Given the description of an element on the screen output the (x, y) to click on. 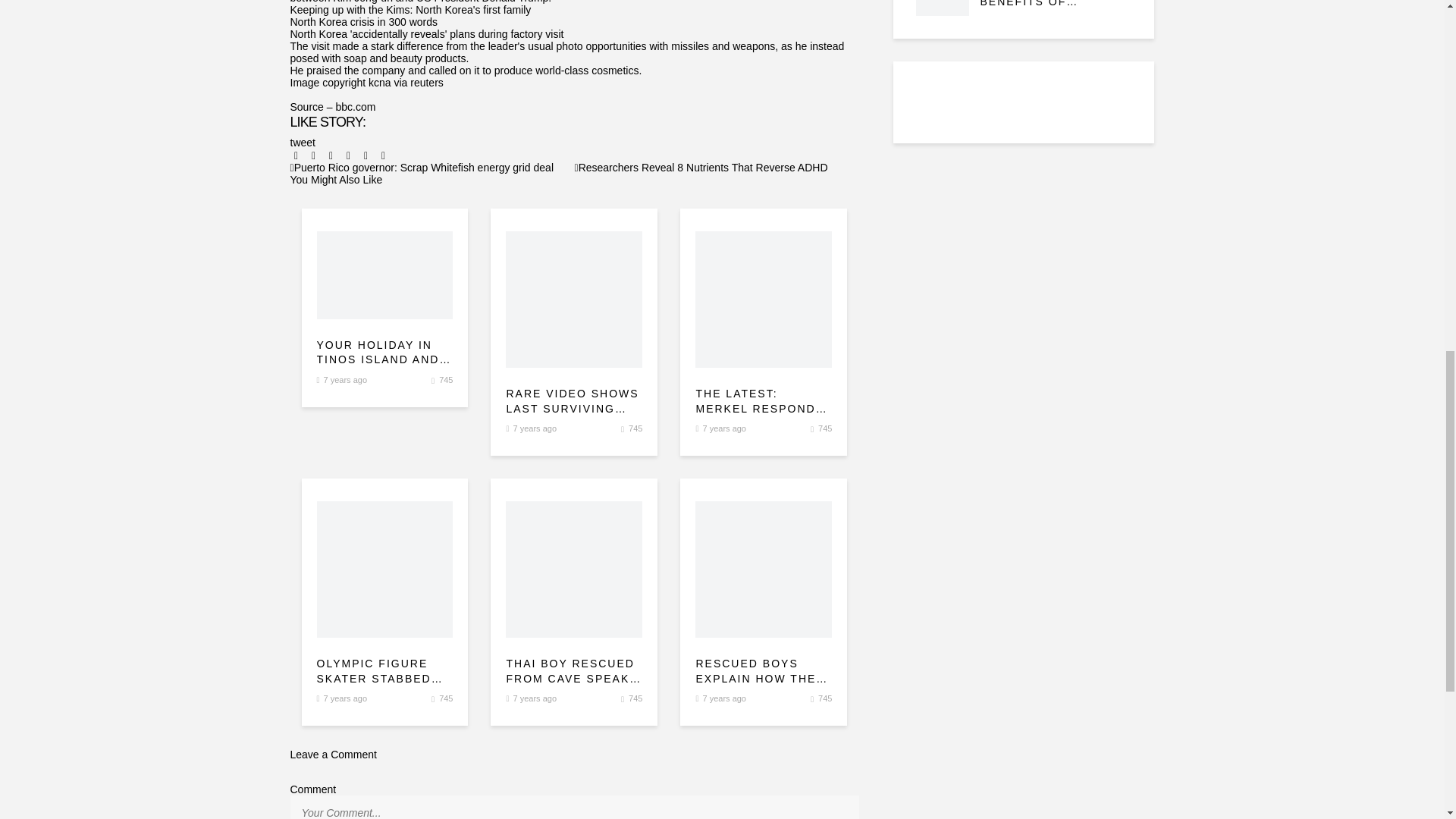
Puerto Rico governor: Scrap Whitefish energy grid deal (421, 167)
Rare video shows last surviving member of Amazonian tribe (573, 401)
Kim Jong-un makes visit to cosmetics firm with wife (384, 274)
tweet (301, 142)
745 (635, 428)
Researchers Reveal 8 Nutrients That Reverse ADHD (701, 167)
YOUR HOLIDAY IN TINOS ISLAND AND WHERE TO STAY! (384, 352)
Kim Jong-un makes visit to cosmetics firm with wife (635, 428)
The Latest: Merkel responds to Trump jab on Montenegro (763, 401)
Your holiday in Tinos island and where to stay! (384, 352)
